Given the description of an element on the screen output the (x, y) to click on. 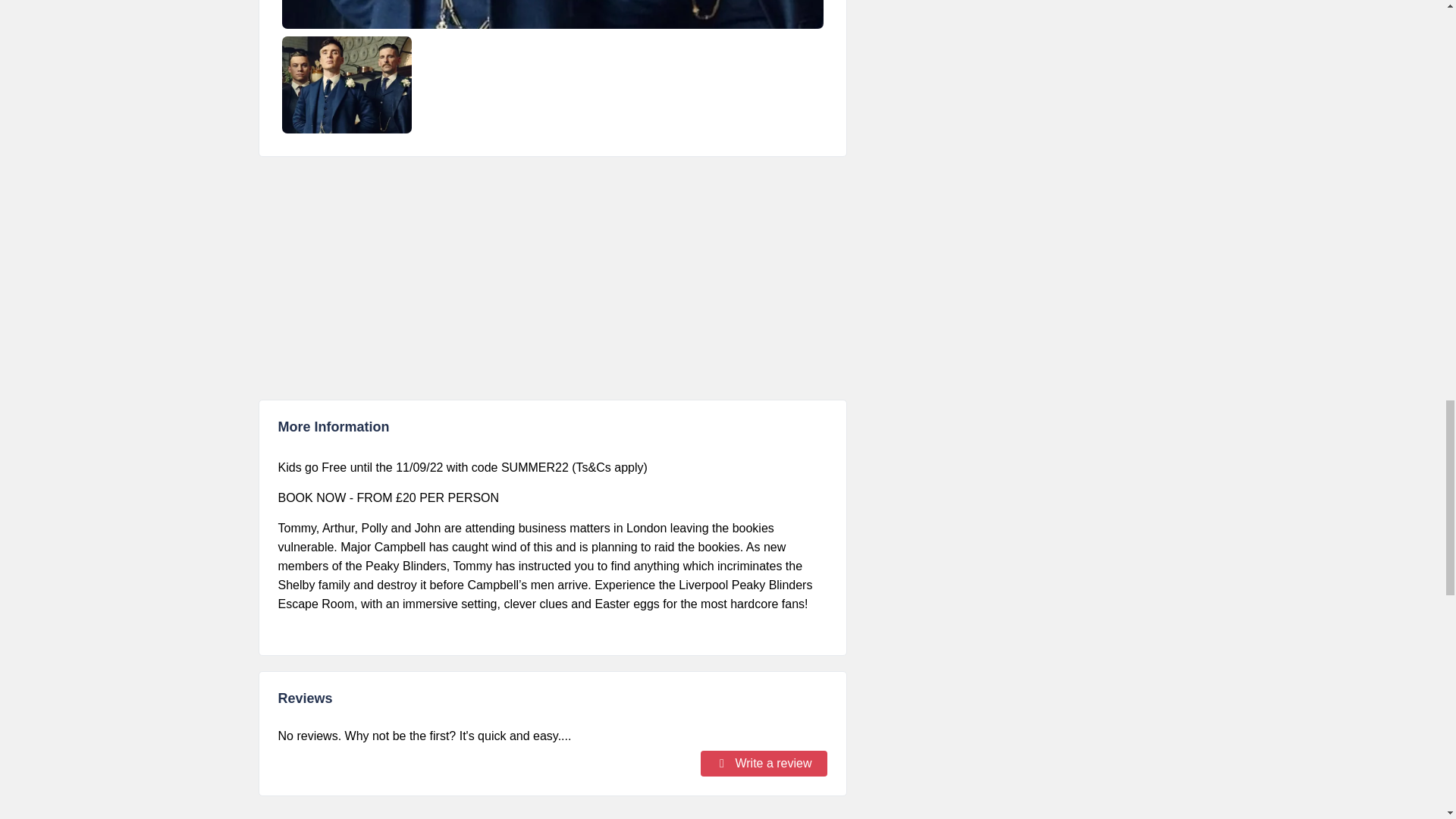
Write a review (763, 763)
Advertisement (551, 277)
